Given the description of an element on the screen output the (x, y) to click on. 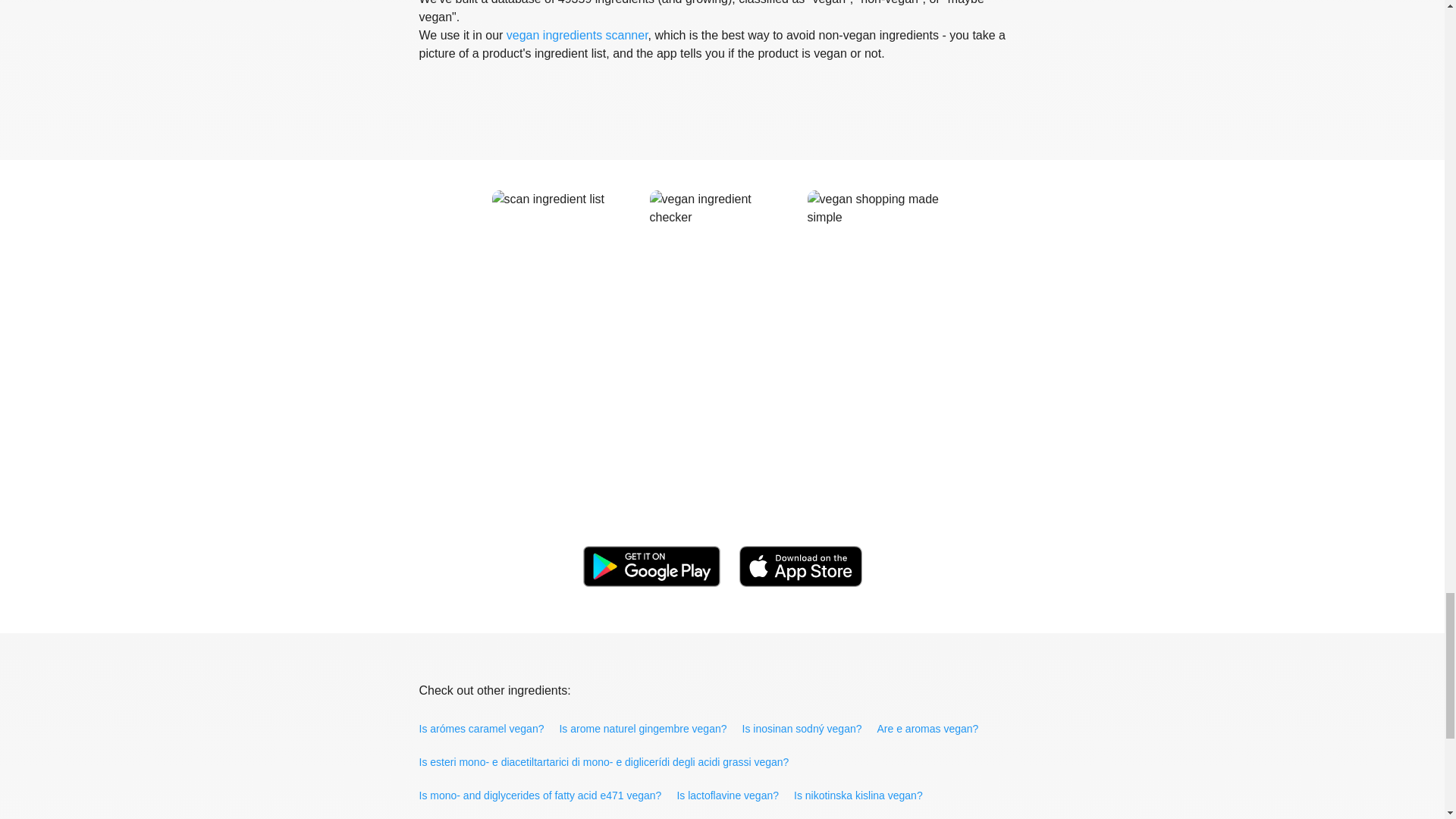
Is lactoflavine vegan? (729, 794)
Is mono- and diglycerides of fatty acid e471 vegan? (541, 794)
Is lactoflavine vegan? (729, 794)
Is nikotinska kislina vegan? (859, 794)
vegan ingredients scanner (576, 34)
Are e aromas vegan? (928, 728)
